Given the description of an element on the screen output the (x, y) to click on. 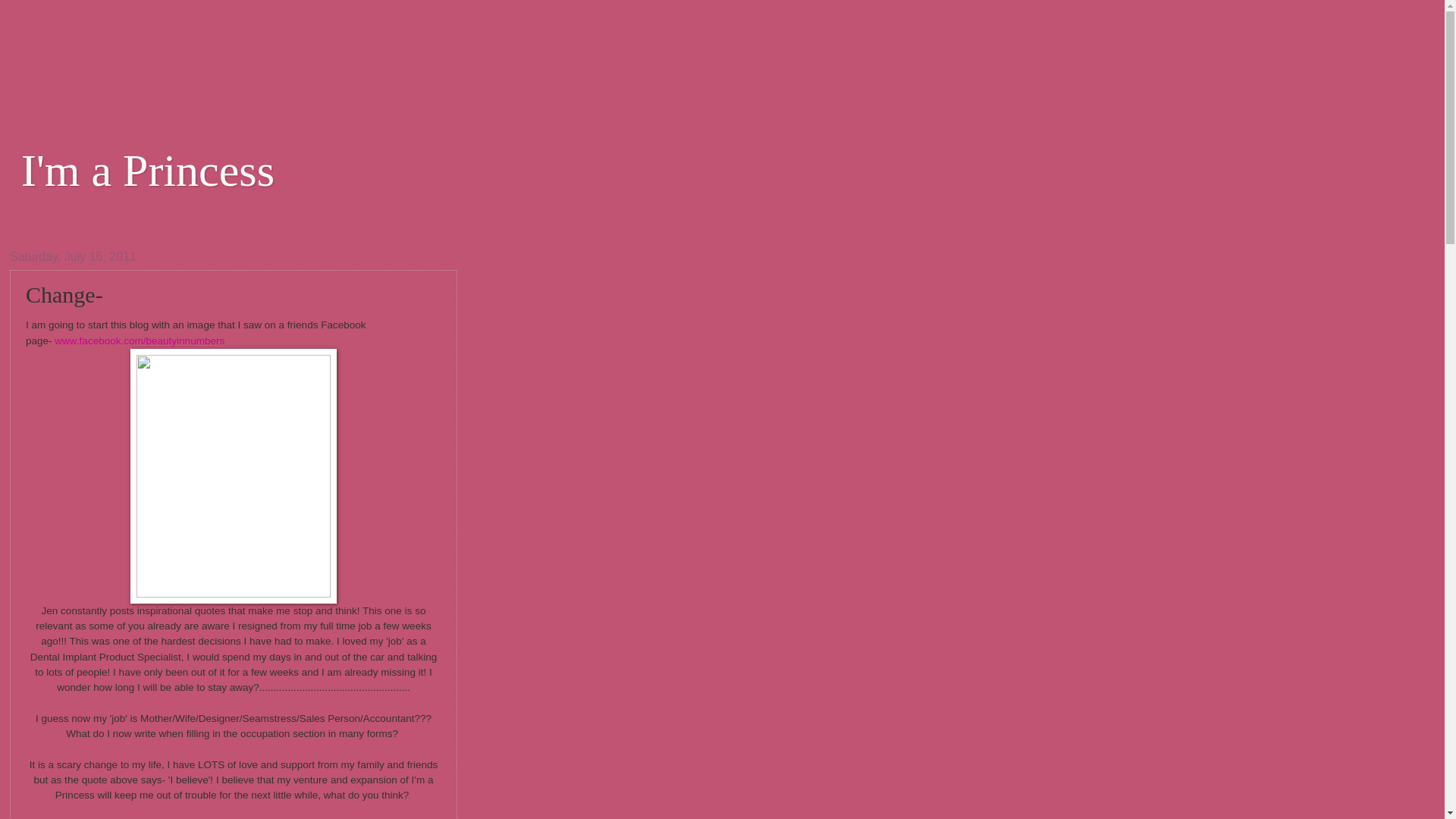
I'm a Princess Element type: text (147, 170)
www.facebook.com/beautyinnumbers Element type: text (139, 340)
